Given the description of an element on the screen output the (x, y) to click on. 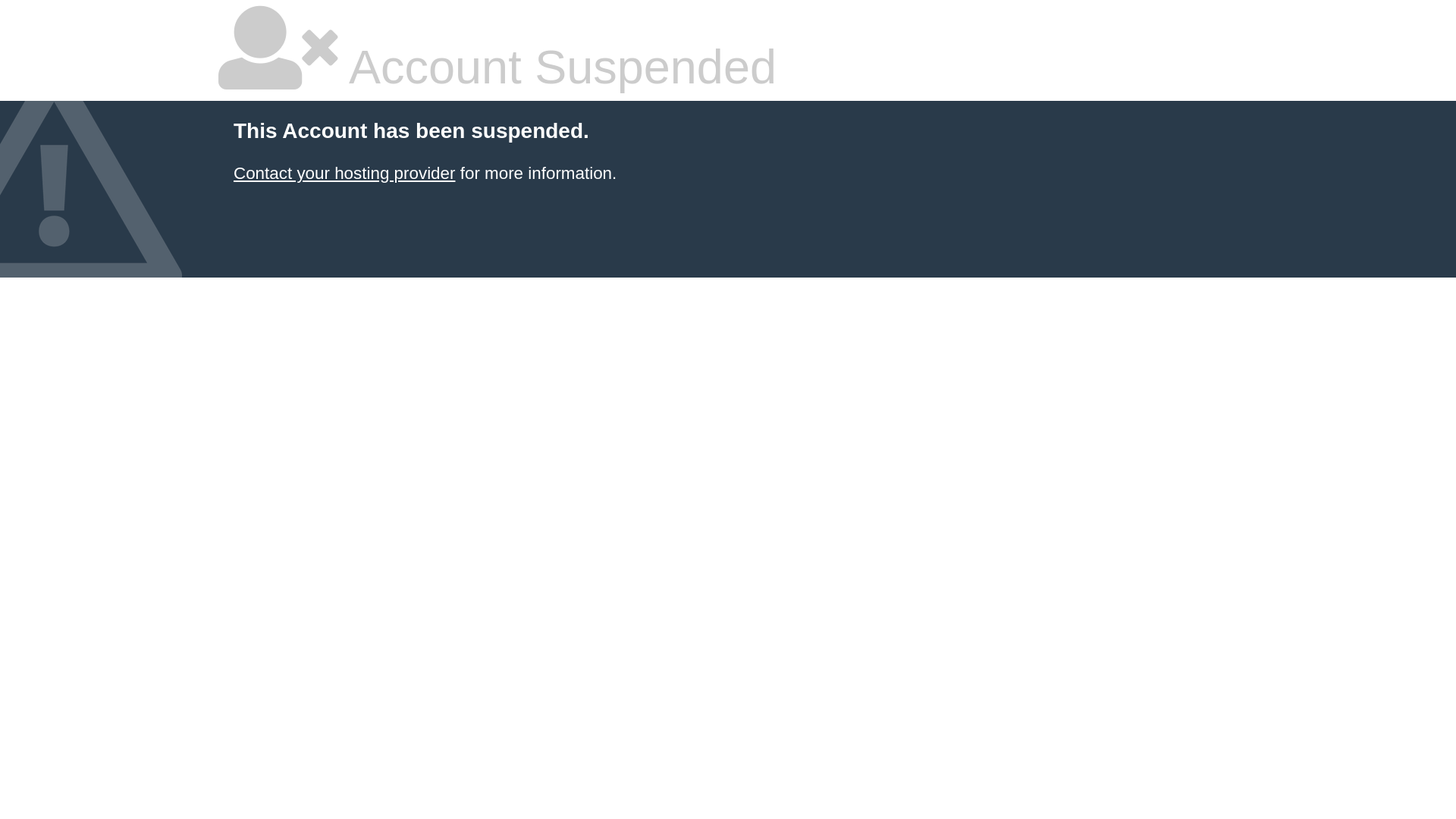
Contact your hosting provider Element type: text (344, 172)
